Given the description of an element on the screen output the (x, y) to click on. 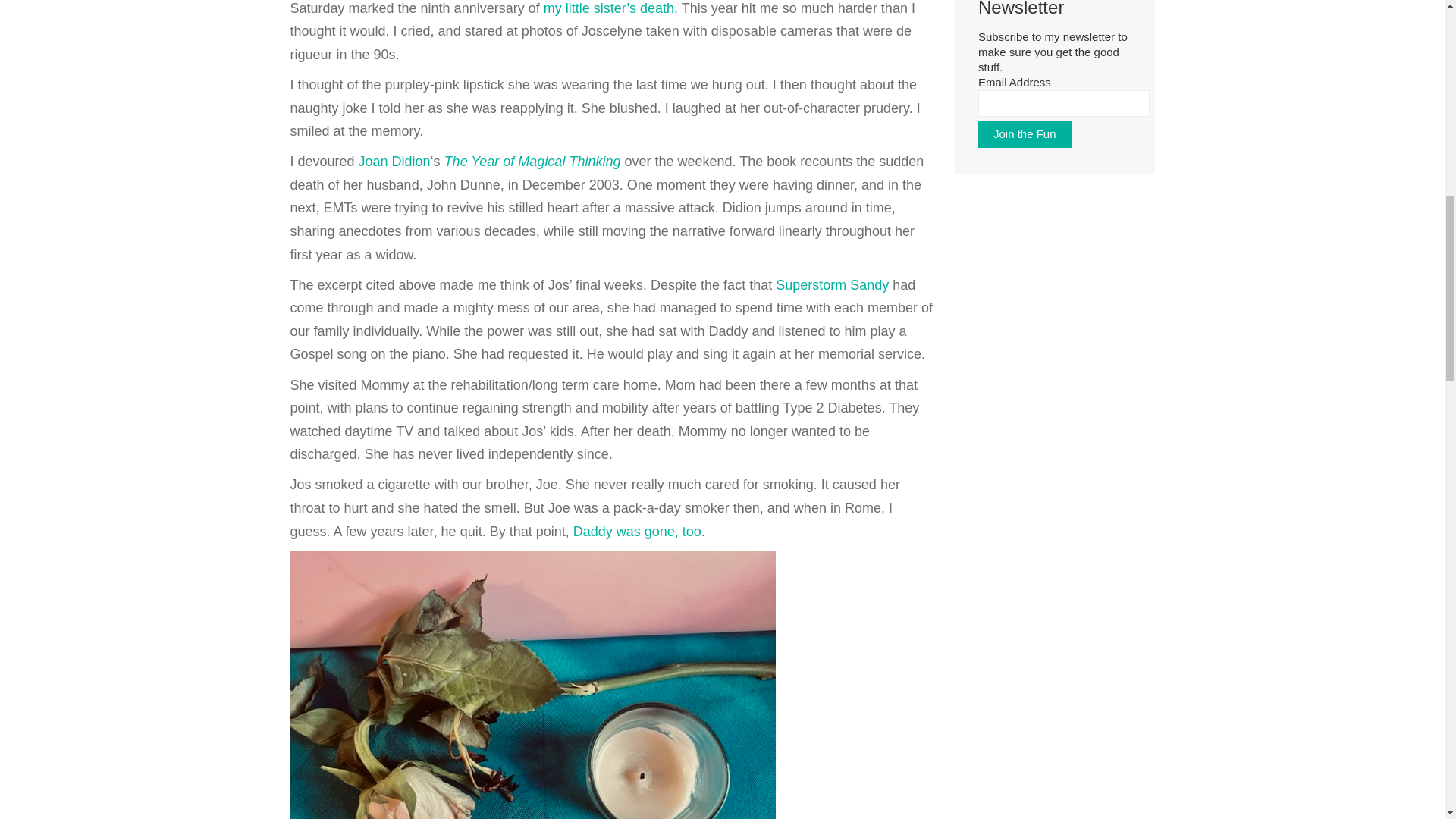
Join the Fun (1024, 134)
Joan Didion (394, 160)
Daddy was gone, too (637, 531)
Superstorm Sandy (832, 284)
The Year of Magical Thinking (532, 160)
